Given the description of an element on the screen output the (x, y) to click on. 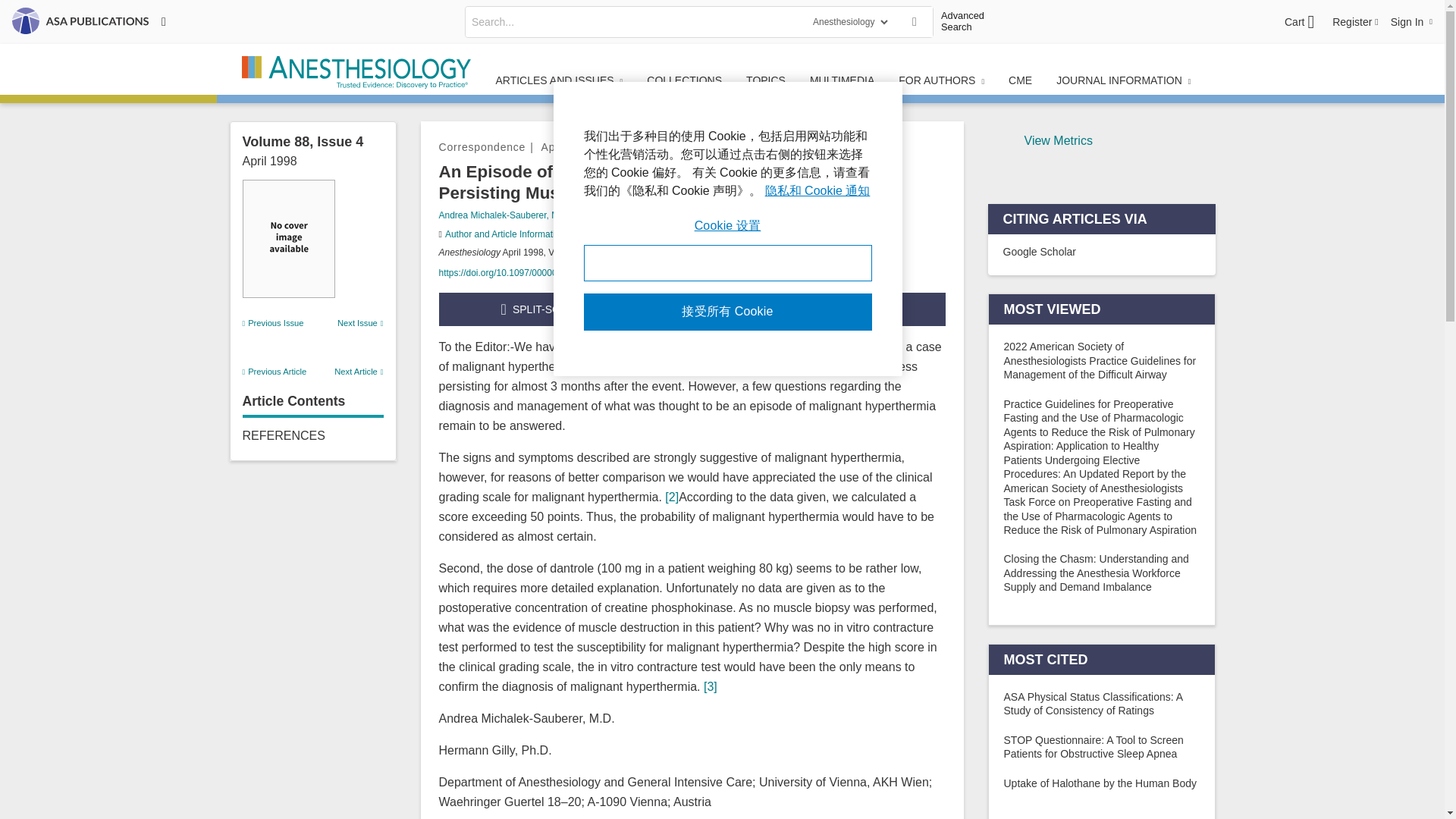
Register (1355, 21)
ARTICLES AND ISSUES (558, 80)
search input (634, 21)
COLLECTIONS (683, 80)
JOURNAL INFORMATION (1122, 80)
MULTIMEDIA (841, 80)
TOPICS (765, 80)
FOR AUTHORS (940, 80)
Cart (1299, 22)
Free (678, 193)
REFERENCES (283, 435)
CME (1019, 80)
Advanced Search (967, 21)
Sign In (1411, 21)
